Given the description of an element on the screen output the (x, y) to click on. 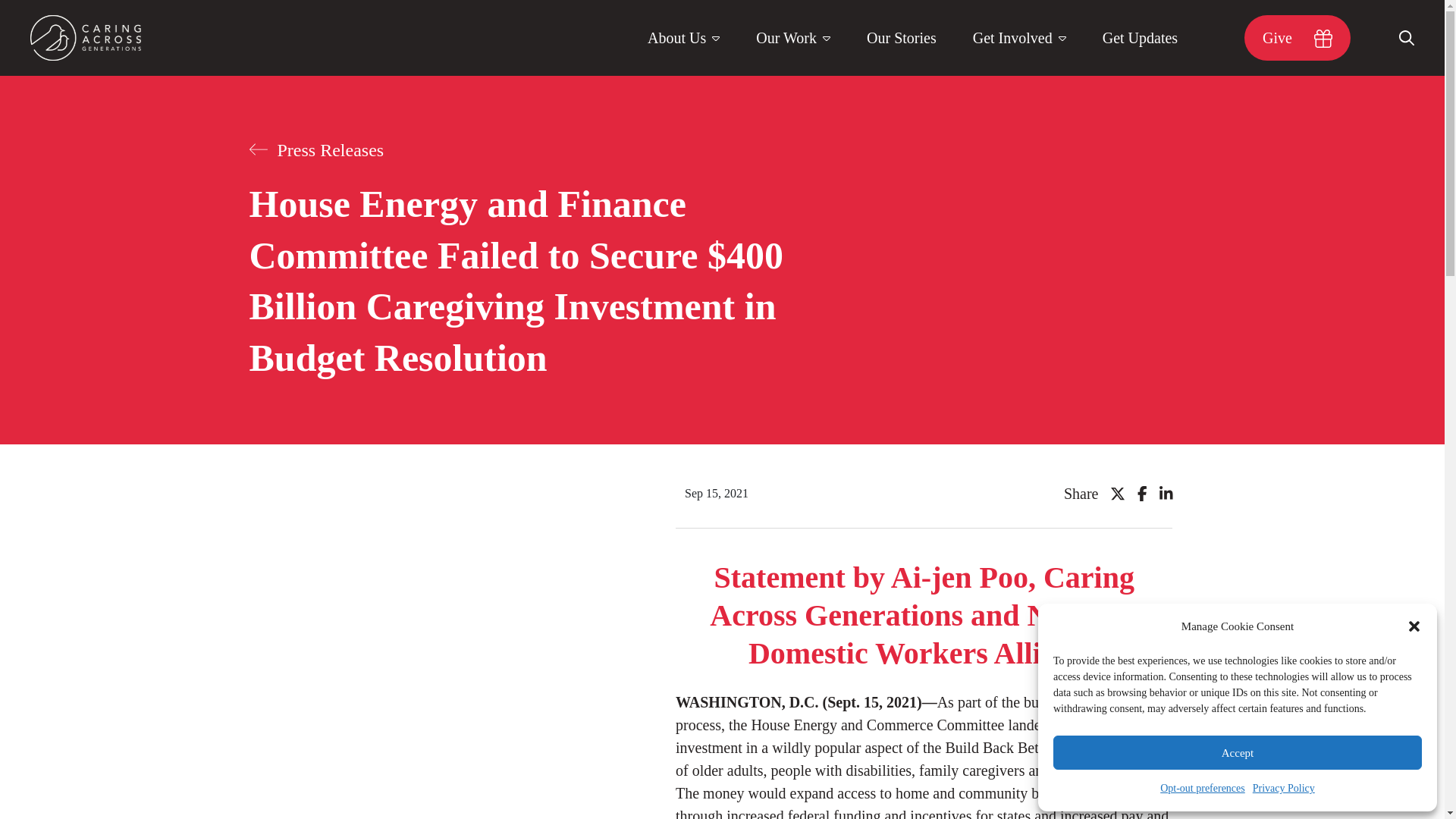
Privacy Policy (1283, 788)
Get Involved (1019, 38)
Our Work (793, 38)
Our Stories (901, 38)
Accept (1237, 752)
About Us (683, 38)
Opt-out preferences (1202, 788)
